Given the description of an element on the screen output the (x, y) to click on. 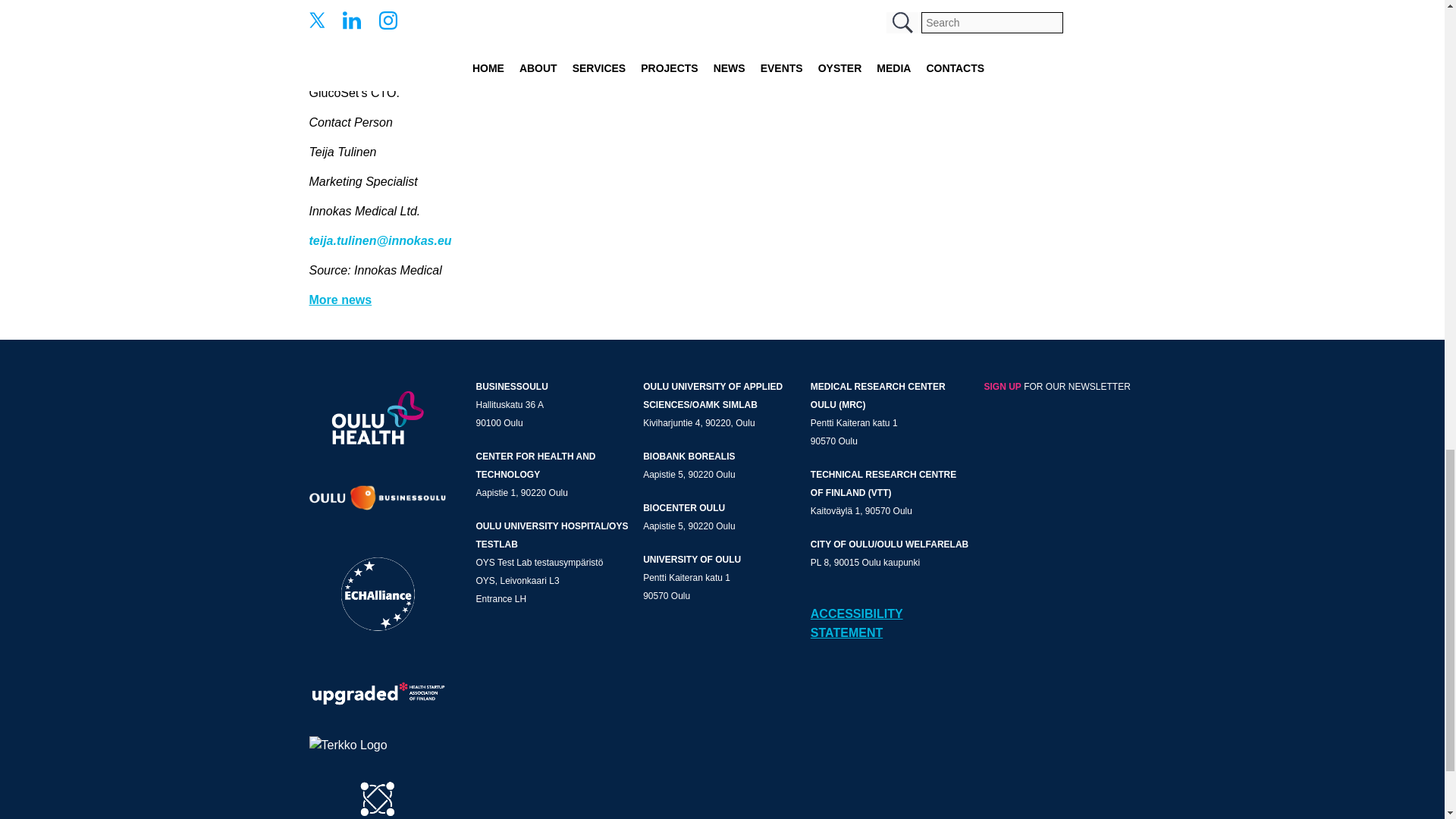
SIGN UP (1003, 386)
More news (340, 299)
ACCESSIBILITY STATEMENT (856, 623)
